Given the description of an element on the screen output the (x, y) to click on. 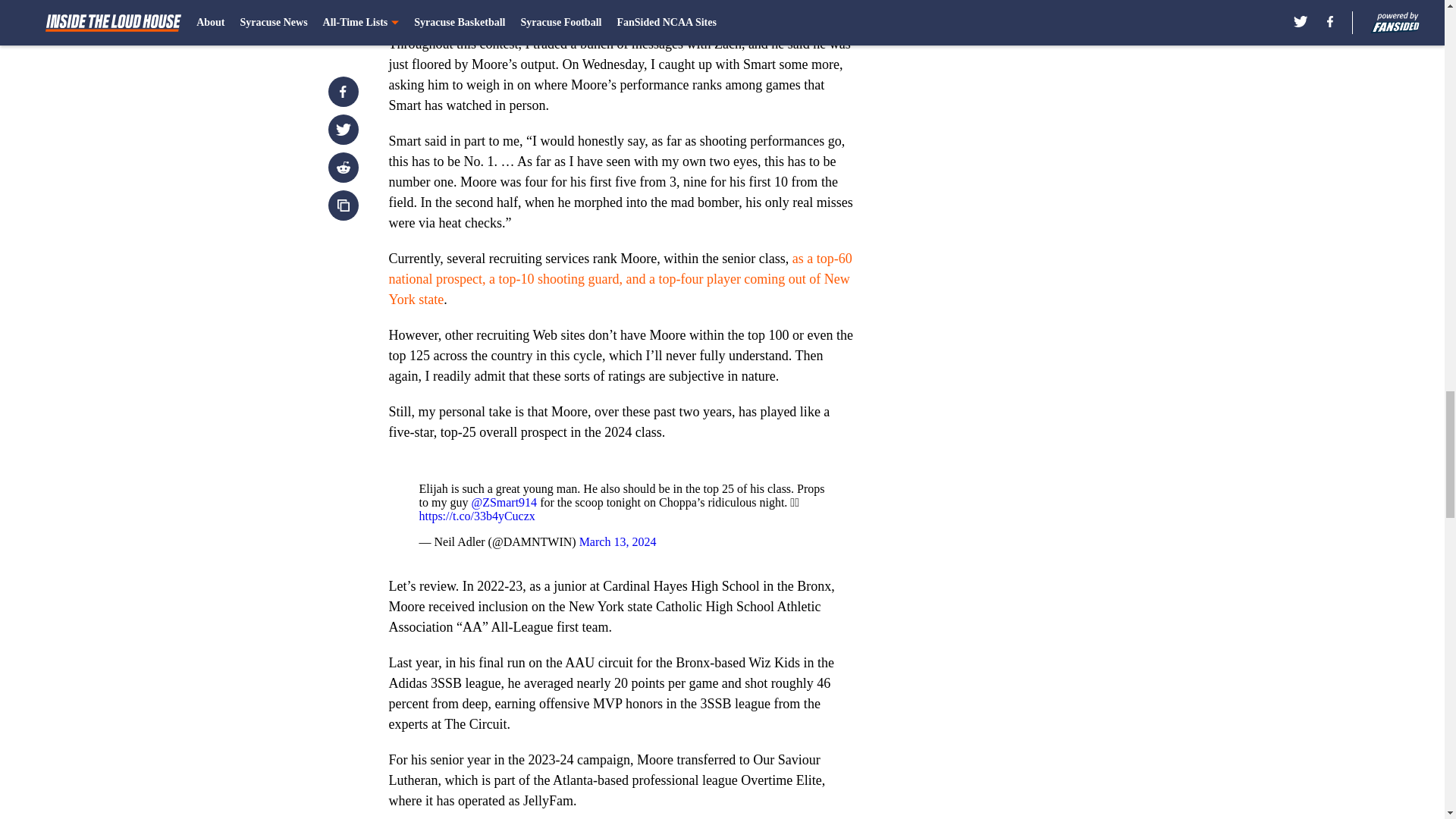
March 13, 2024 (608, 2)
